Given the description of an element on the screen output the (x, y) to click on. 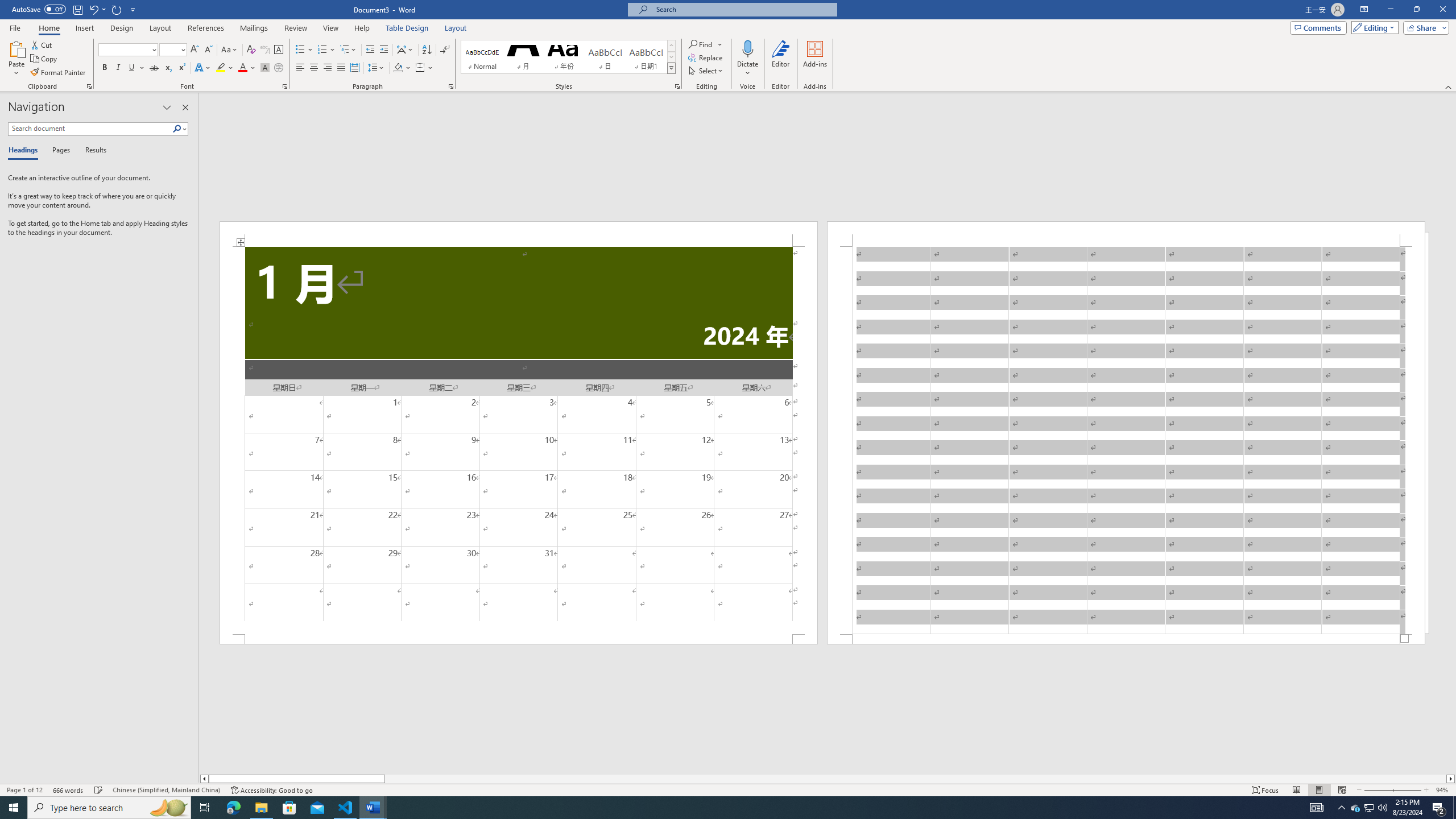
Show/Hide Editing Marks (444, 49)
Search document (89, 128)
Superscript (180, 67)
Text Highlight Color Yellow (220, 67)
Column right (1450, 778)
Focus  (1265, 790)
Task Pane Options (167, 107)
Font Color RGB(255, 0, 0) (241, 67)
Shrink Font (208, 49)
Distributed (354, 67)
